Given the description of an element on the screen output the (x, y) to click on. 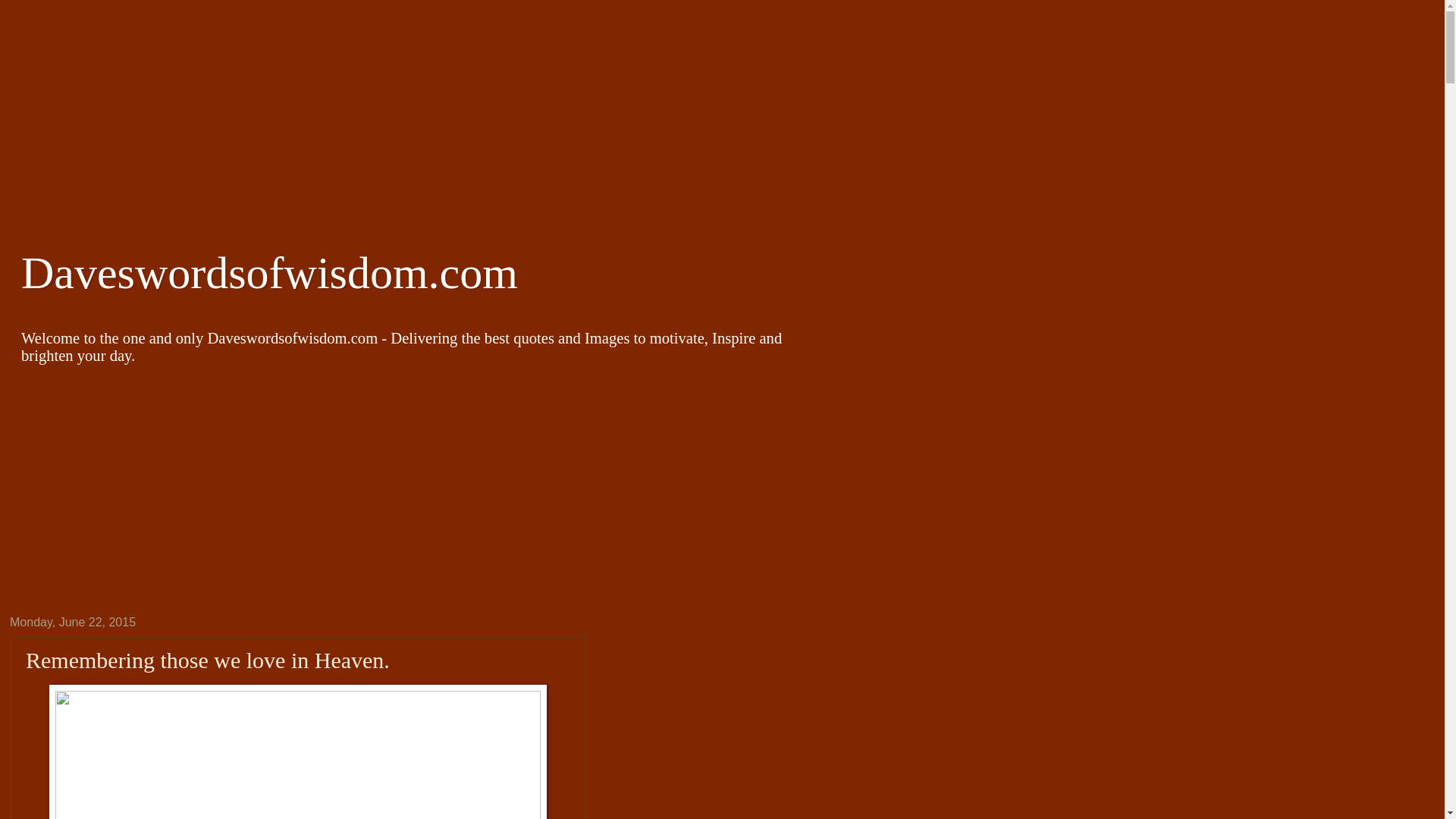
Daveswordsofwisdom.com (269, 273)
